Given the description of an element on the screen output the (x, y) to click on. 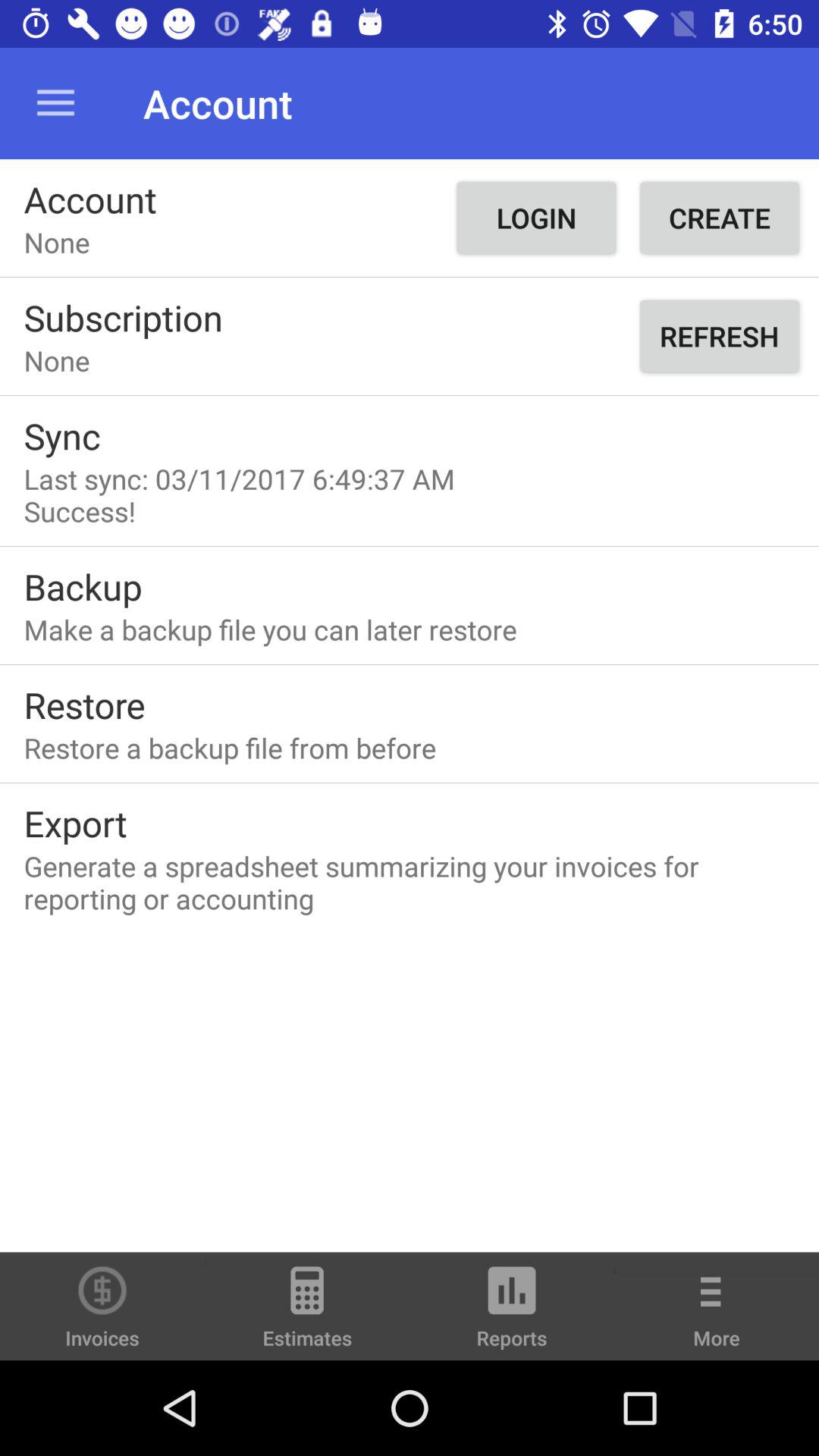
click the item to the left of the account item (55, 103)
